Given the description of an element on the screen output the (x, y) to click on. 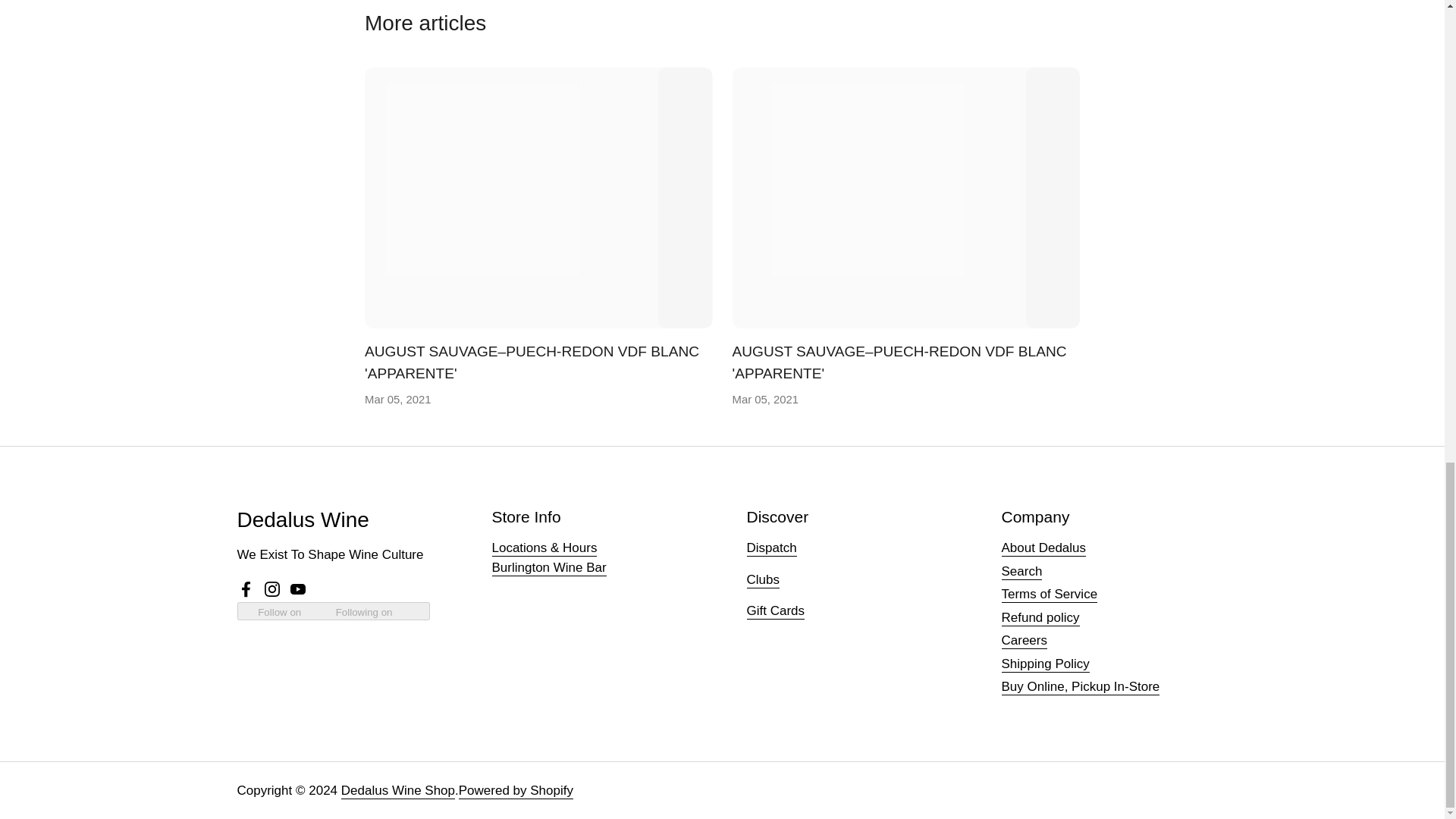
Dedalus Locations (544, 548)
